Given the description of an element on the screen output the (x, y) to click on. 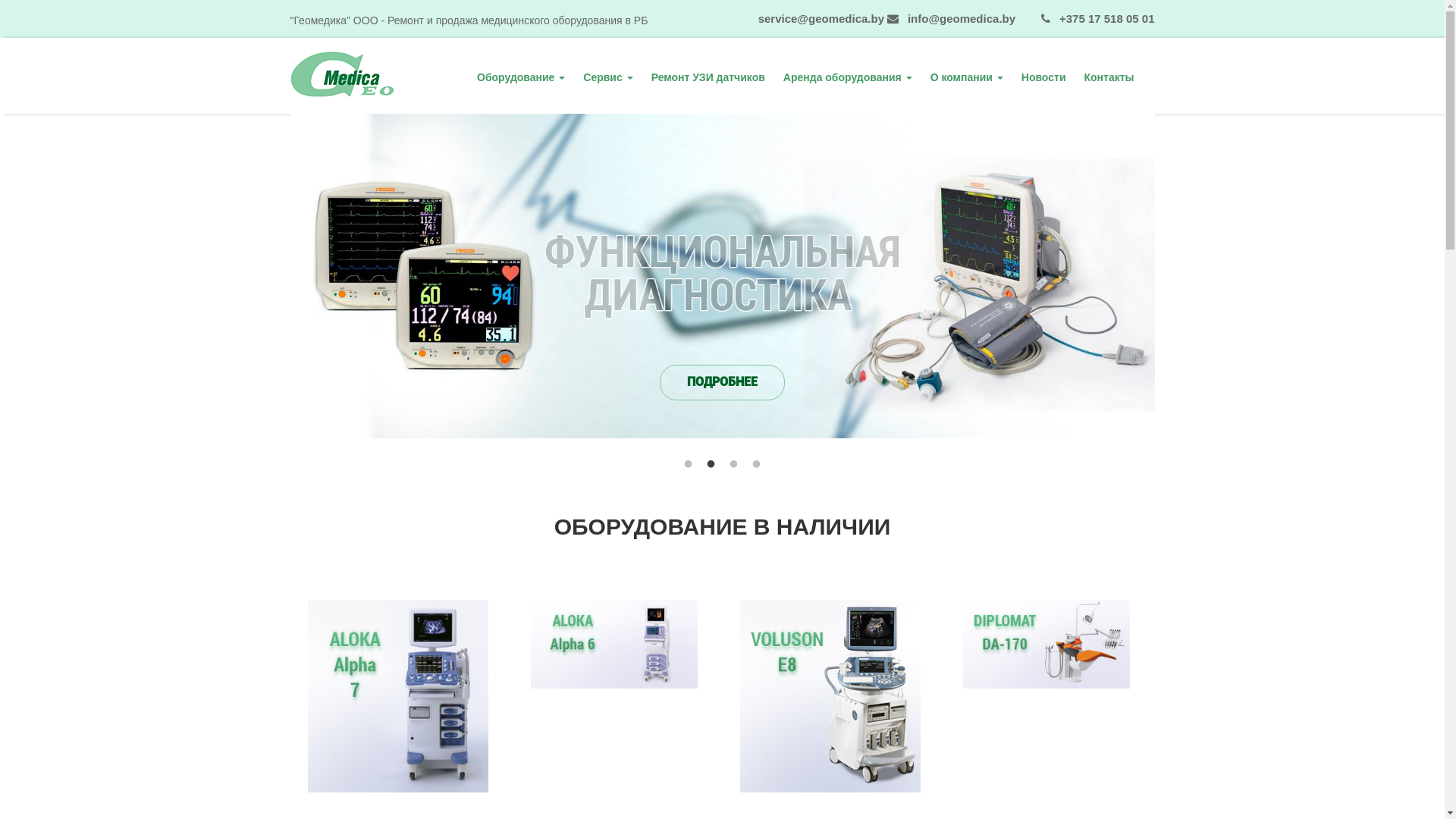
service@geomedica.by Element type: text (816, 18)
3 Element type: text (733, 463)
info@geomedica.by Element type: text (956, 18)
1 Element type: text (688, 463)
2 Element type: text (710, 463)
4 Element type: text (756, 463)
